Given the description of an element on the screen output the (x, y) to click on. 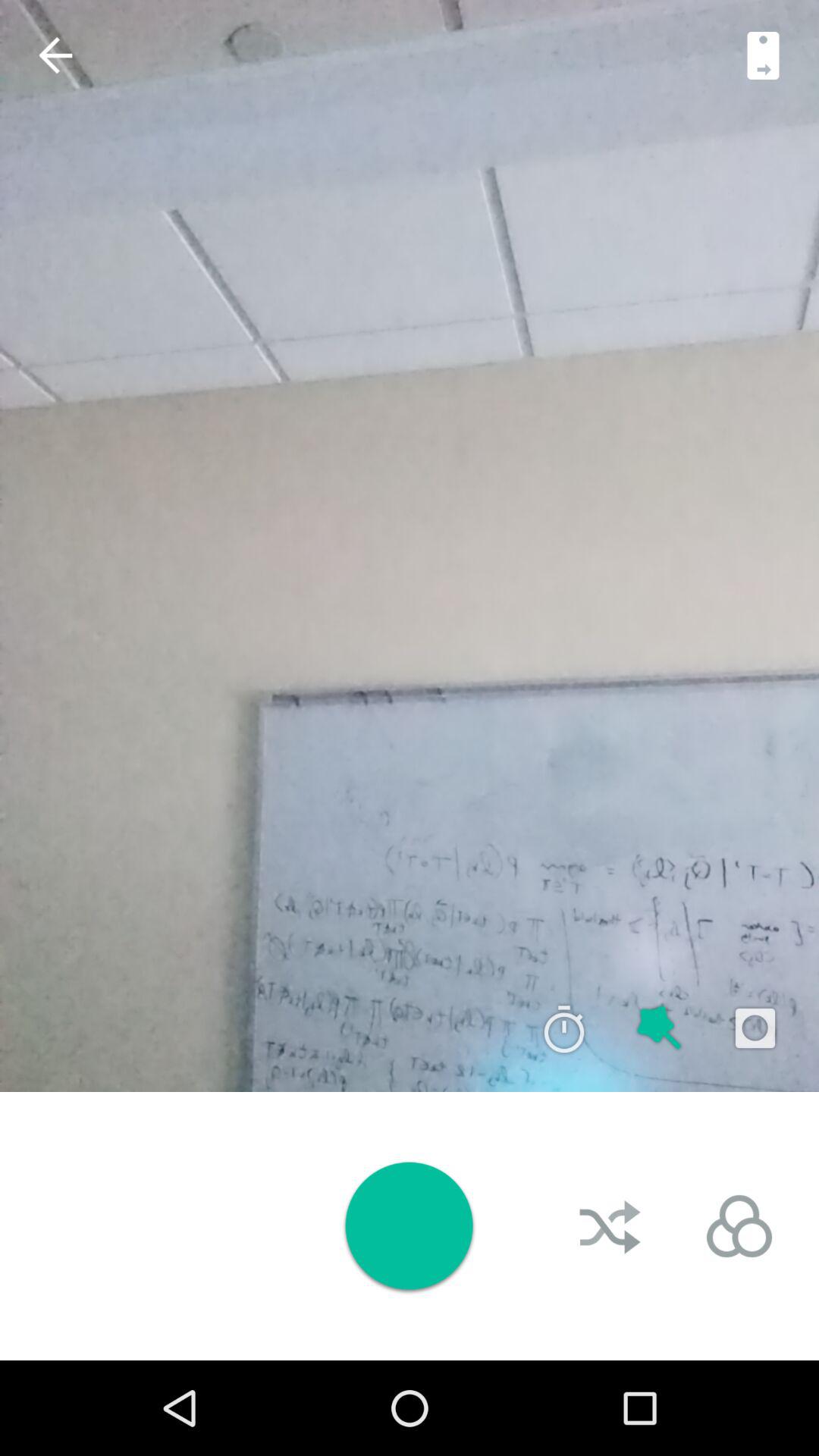
go back (55, 55)
